Given the description of an element on the screen output the (x, y) to click on. 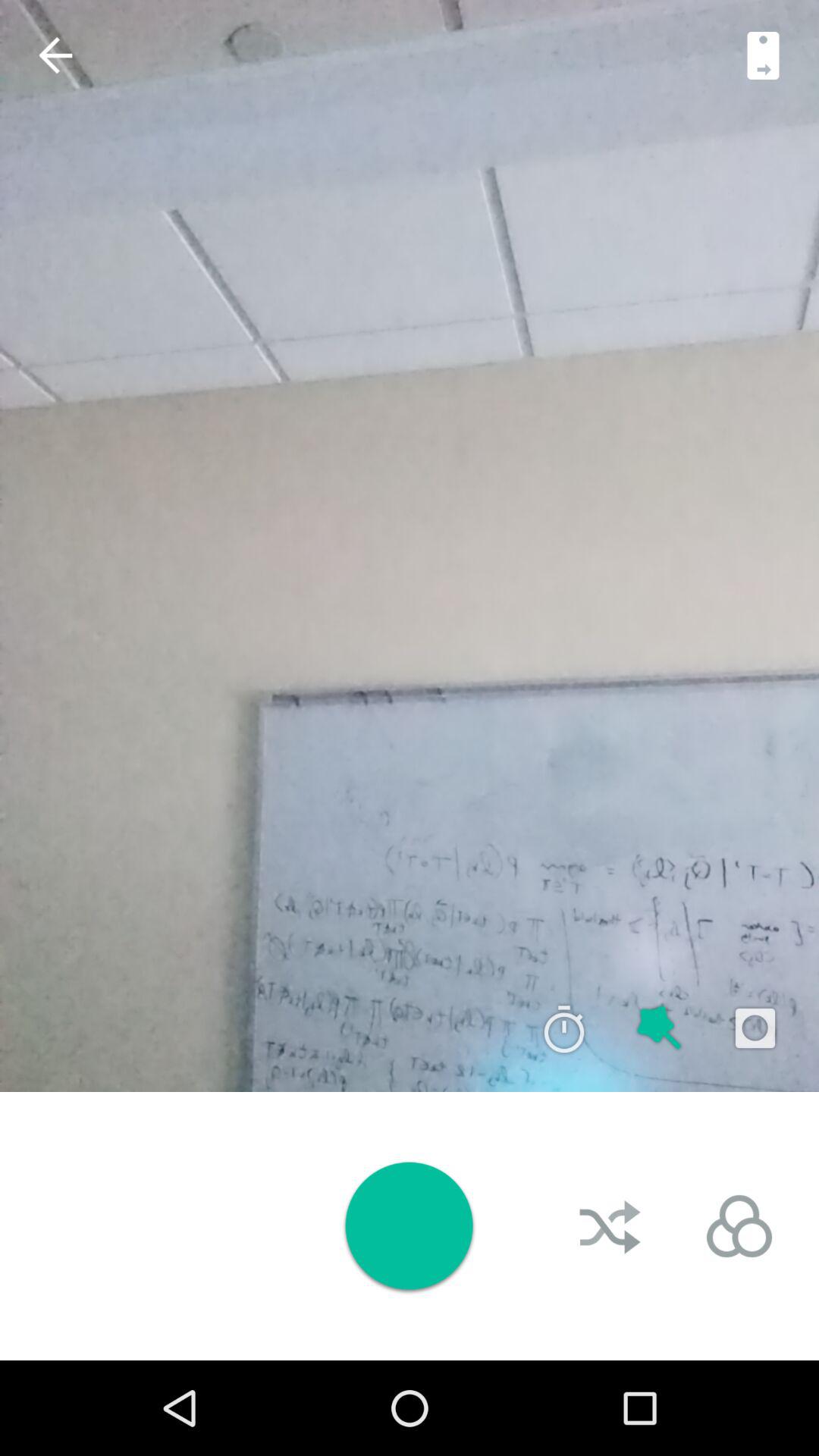
go back (55, 55)
